Given the description of an element on the screen output the (x, y) to click on. 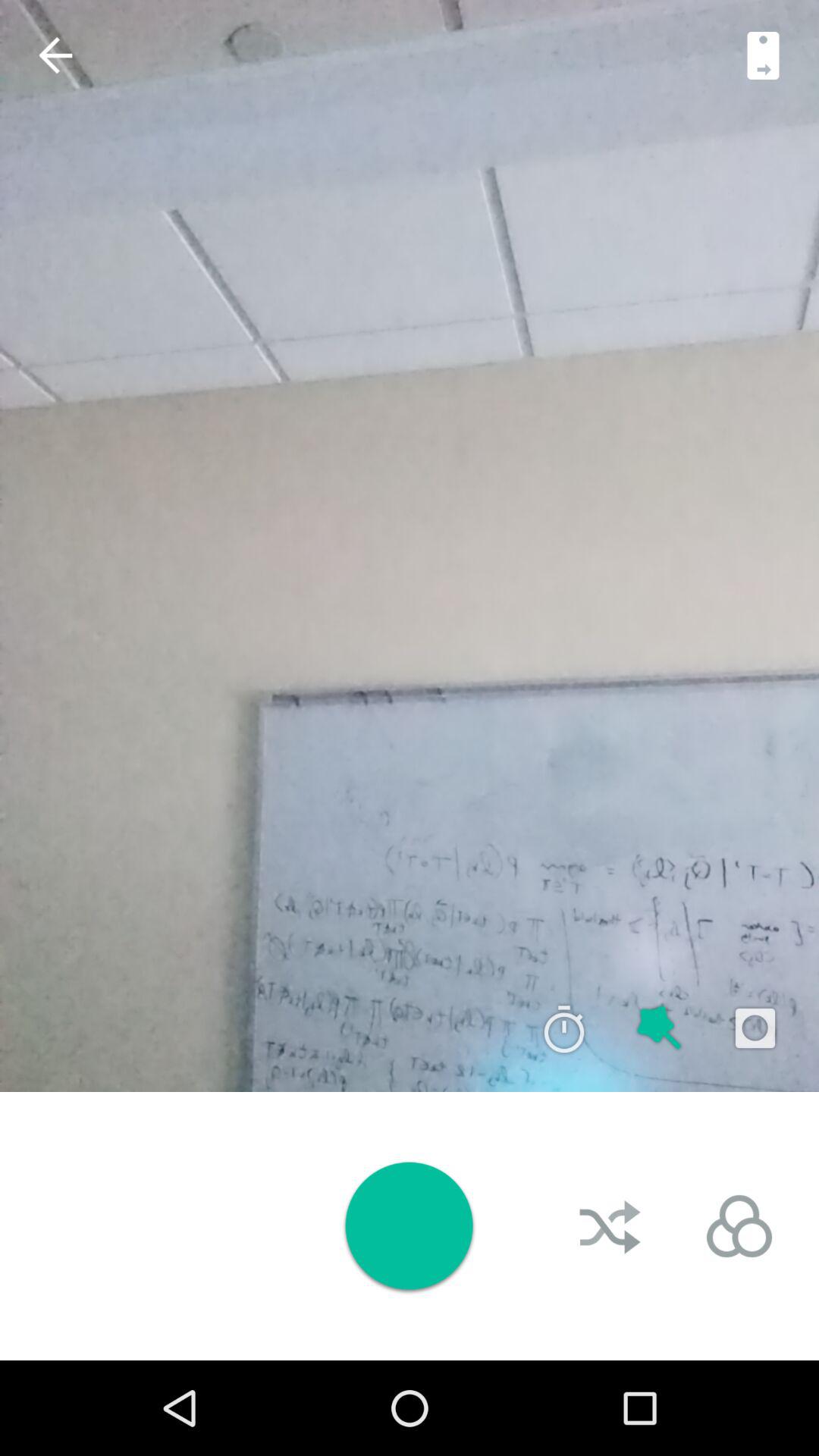
go back (55, 55)
